Given the description of an element on the screen output the (x, y) to click on. 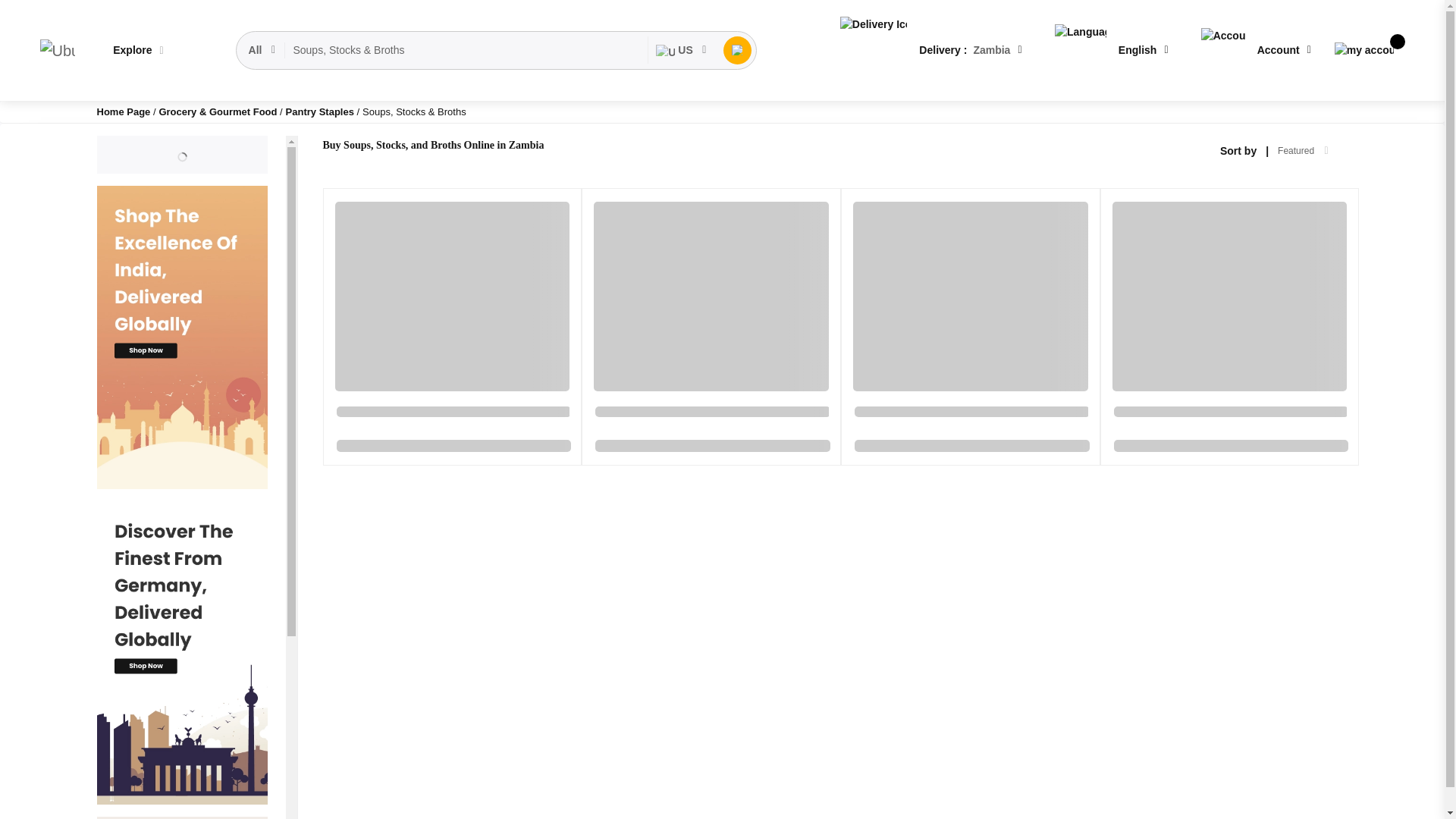
Ubuy (57, 50)
US (680, 50)
Home Page (124, 111)
All (263, 50)
Home Page (124, 111)
Cart (1364, 49)
